Given the description of an element on the screen output the (x, y) to click on. 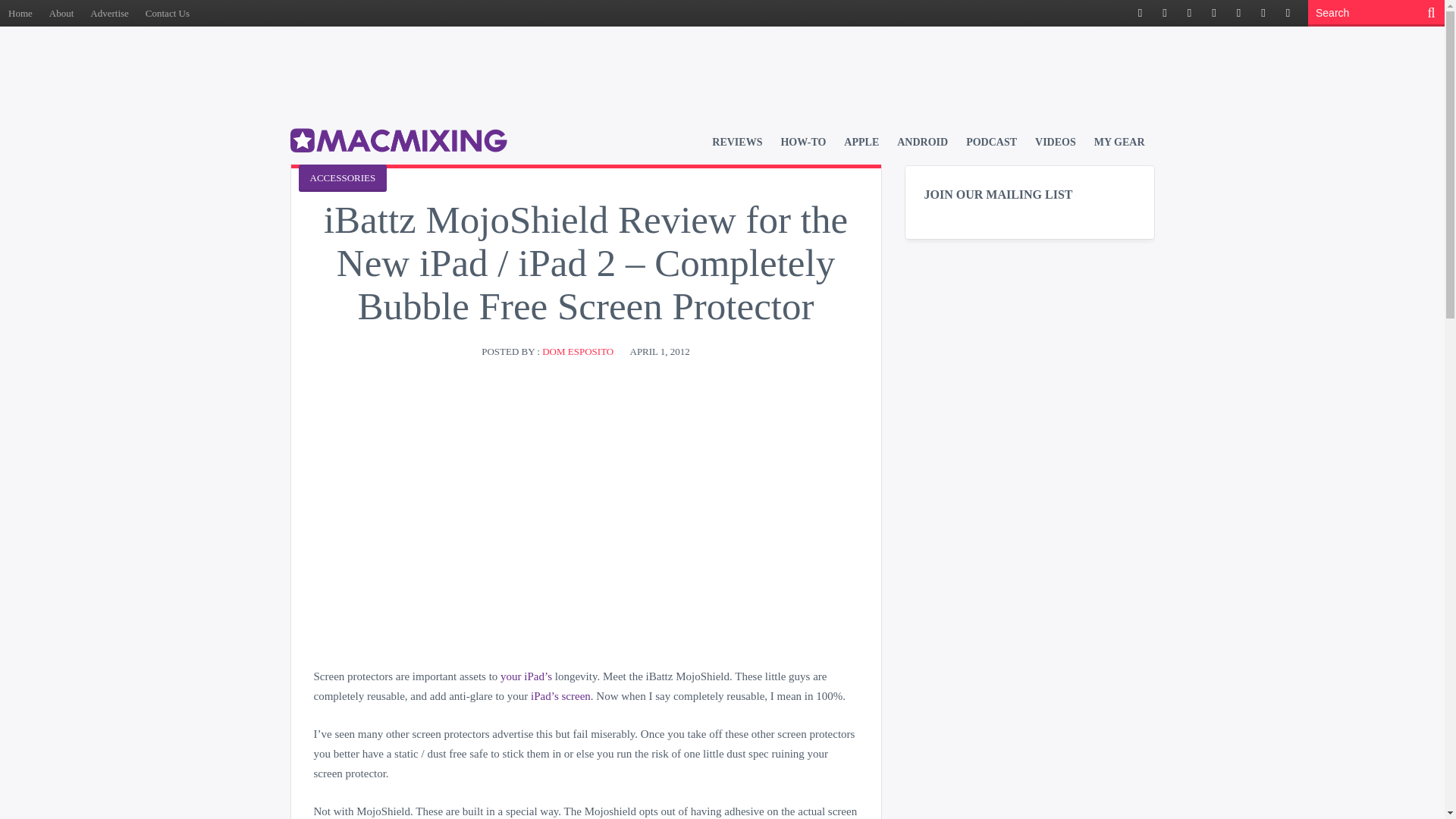
instagram (1287, 13)
Home (20, 13)
Posts by Dom Esposito (576, 351)
Rss (1188, 13)
Advertise (108, 13)
Search (1364, 13)
About (61, 13)
Youtube (1263, 13)
Facebook (1140, 13)
LinkedIn (1238, 13)
HOW-TO (802, 141)
Twitter (1165, 13)
Contact Us (167, 13)
REVIEWS (736, 141)
